Given the description of an element on the screen output the (x, y) to click on. 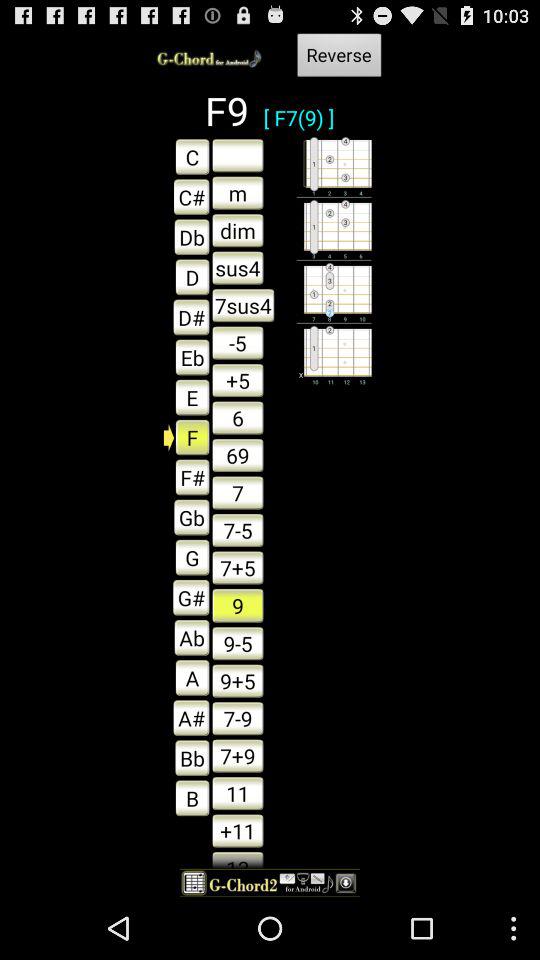
turn off the button next to 7-9 button (186, 758)
